Given the description of an element on the screen output the (x, y) to click on. 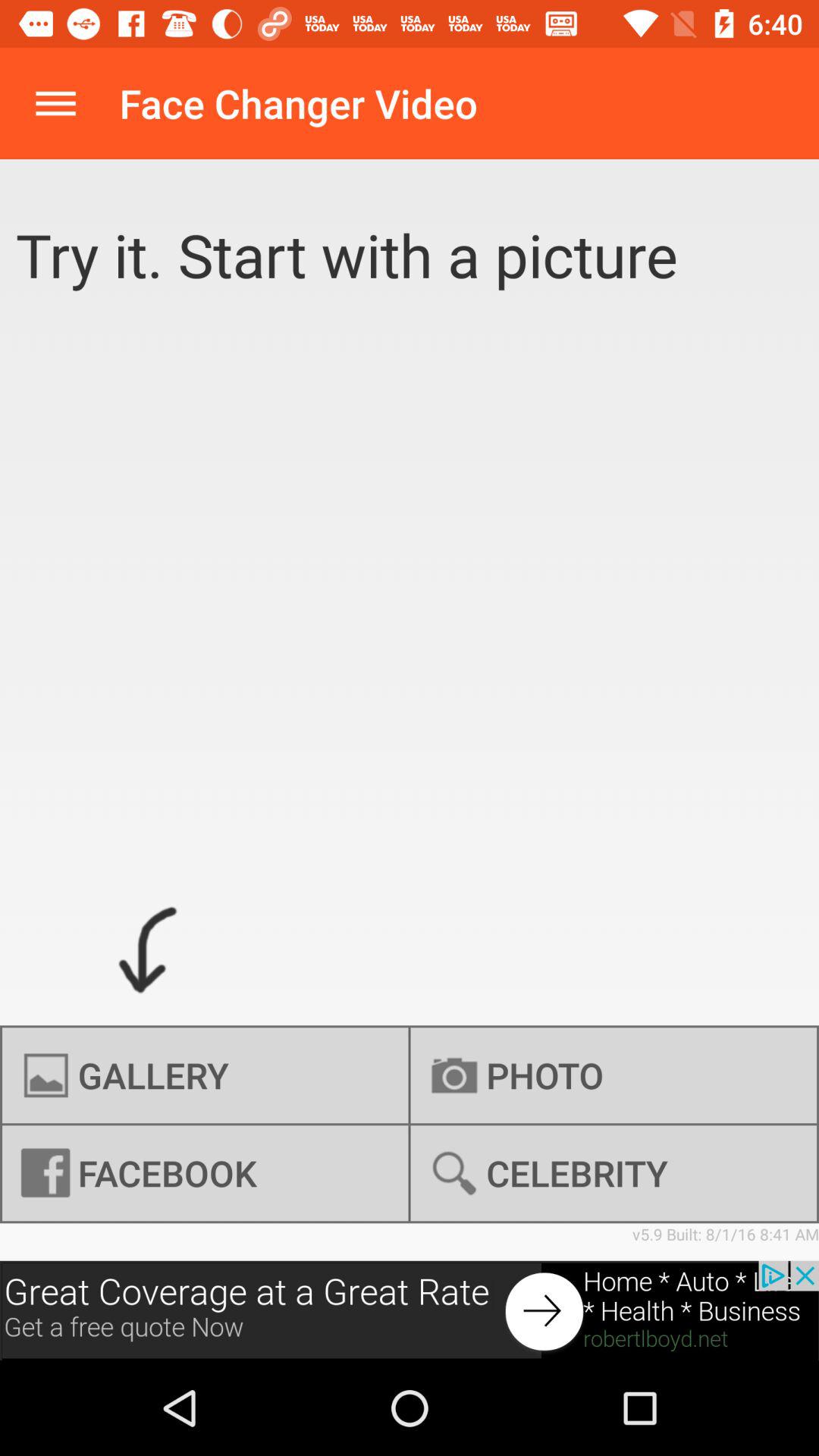
expand menu (55, 103)
